Given the description of an element on the screen output the (x, y) to click on. 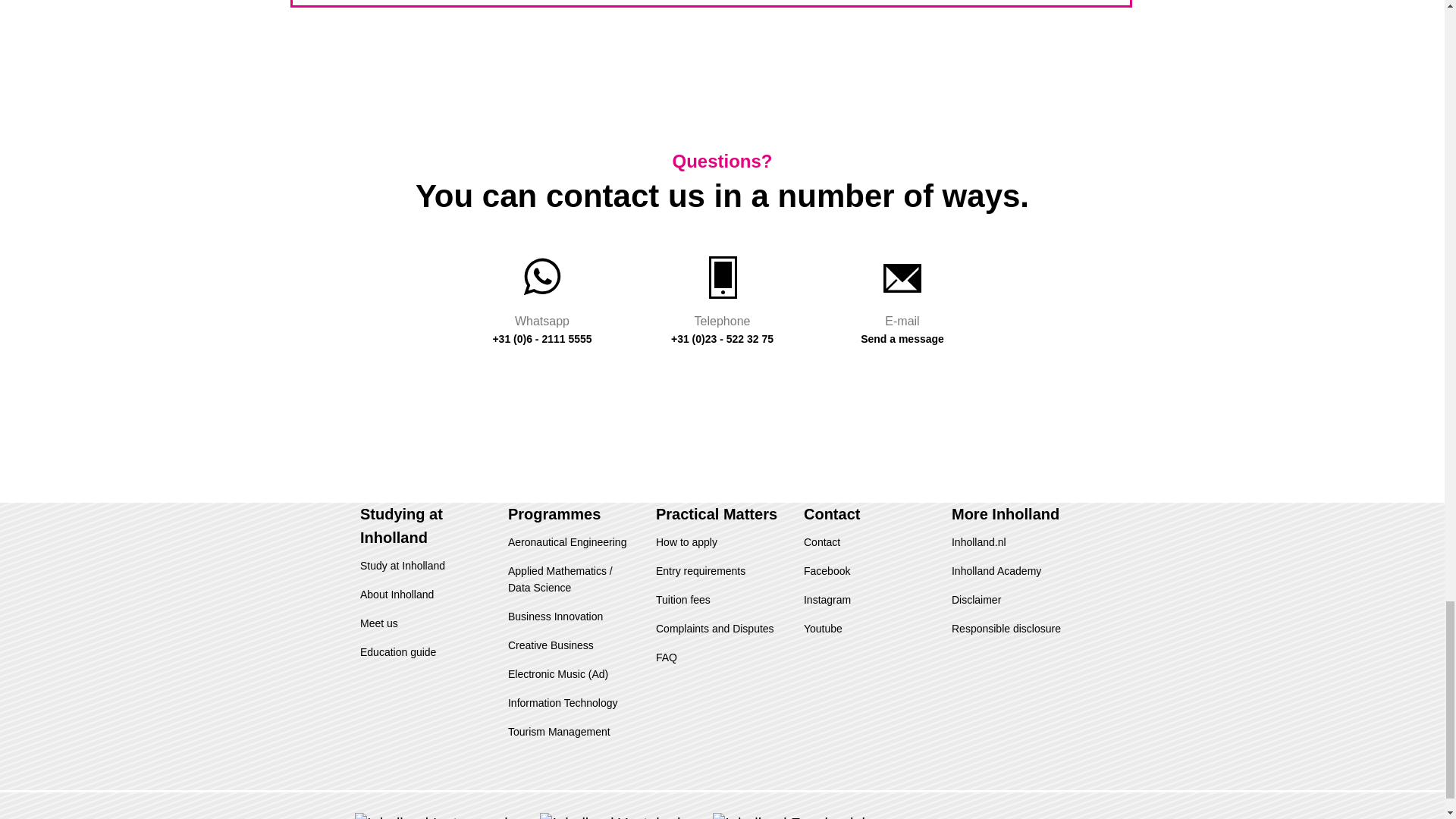
Inholland YouTube Channel (622, 816)
Meet us (378, 623)
About Inholland (396, 594)
Programmes (553, 514)
Inholland Instagram (443, 816)
Study at Inholland (402, 565)
Studying at Inholland (400, 526)
Business Innovation (555, 616)
Education guide (397, 652)
Aeronautical Engineering (567, 541)
